Given the description of an element on the screen output the (x, y) to click on. 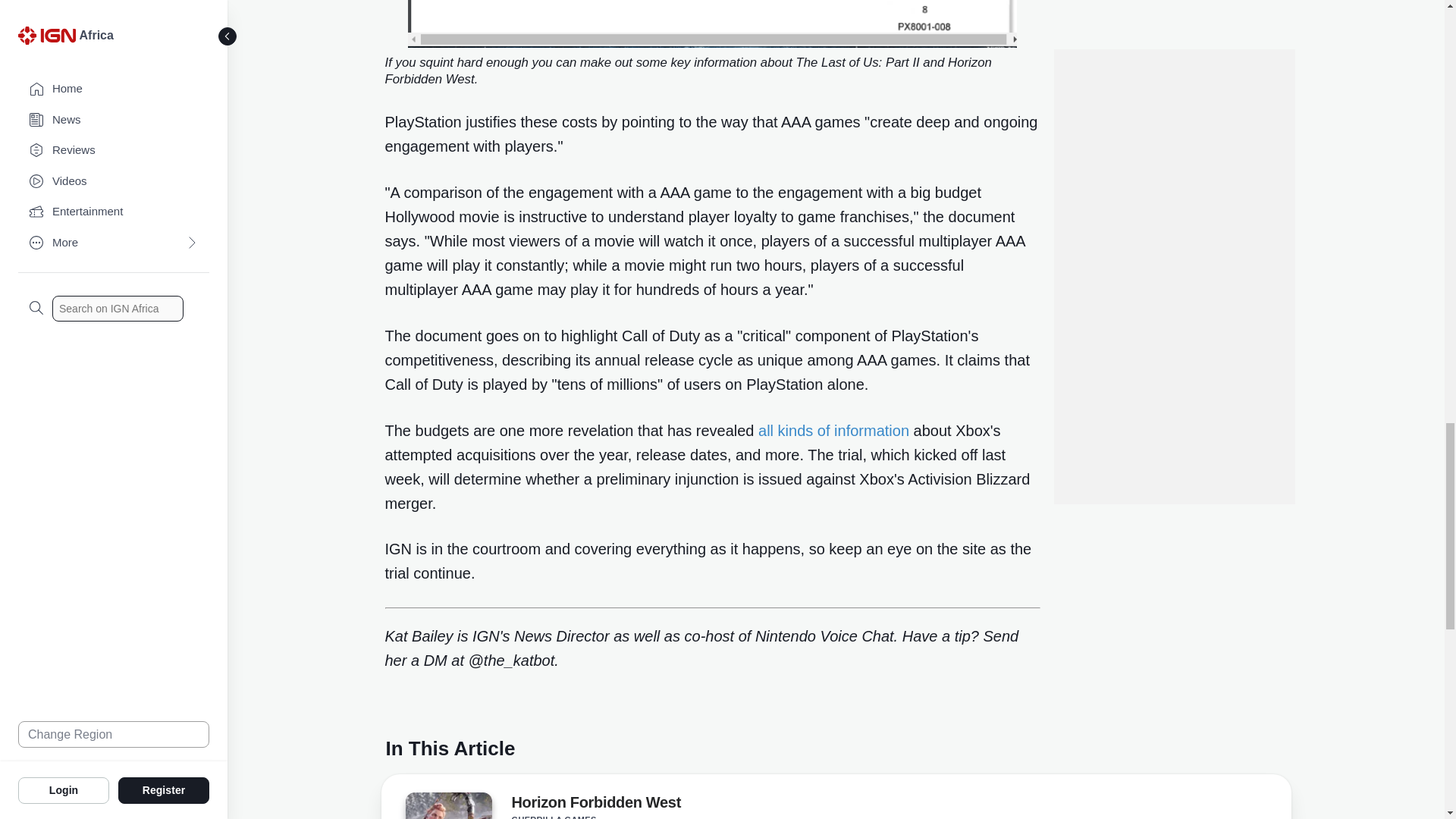
Horizon Forbidden West (595, 804)
Horizon Forbidden West (595, 804)
Horizon Forbidden West (448, 807)
Horizon Forbidden West (448, 805)
all kinds of information (833, 430)
